Given the description of an element on the screen output the (x, y) to click on. 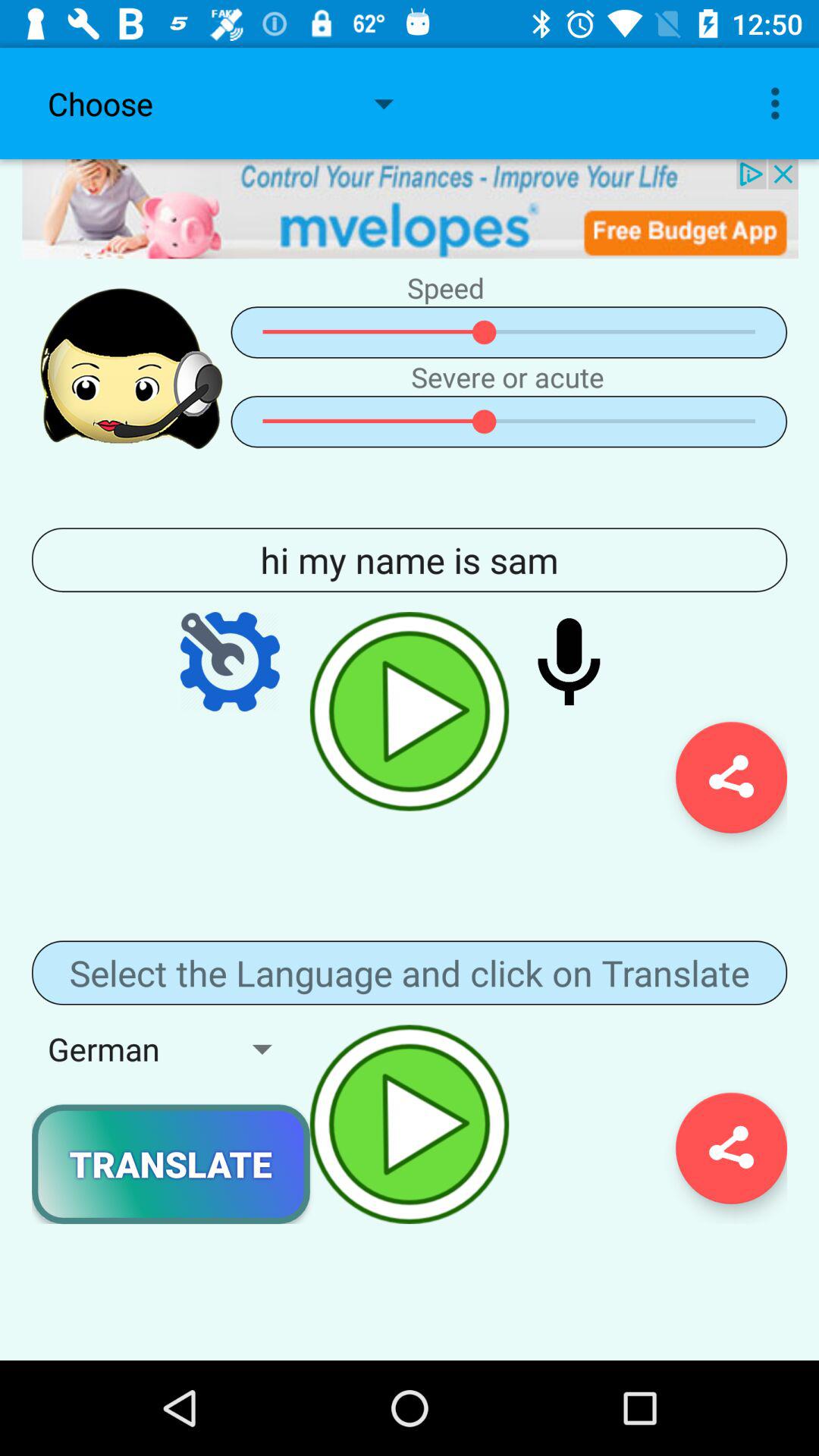
go to settings (229, 661)
